Given the description of an element on the screen output the (x, y) to click on. 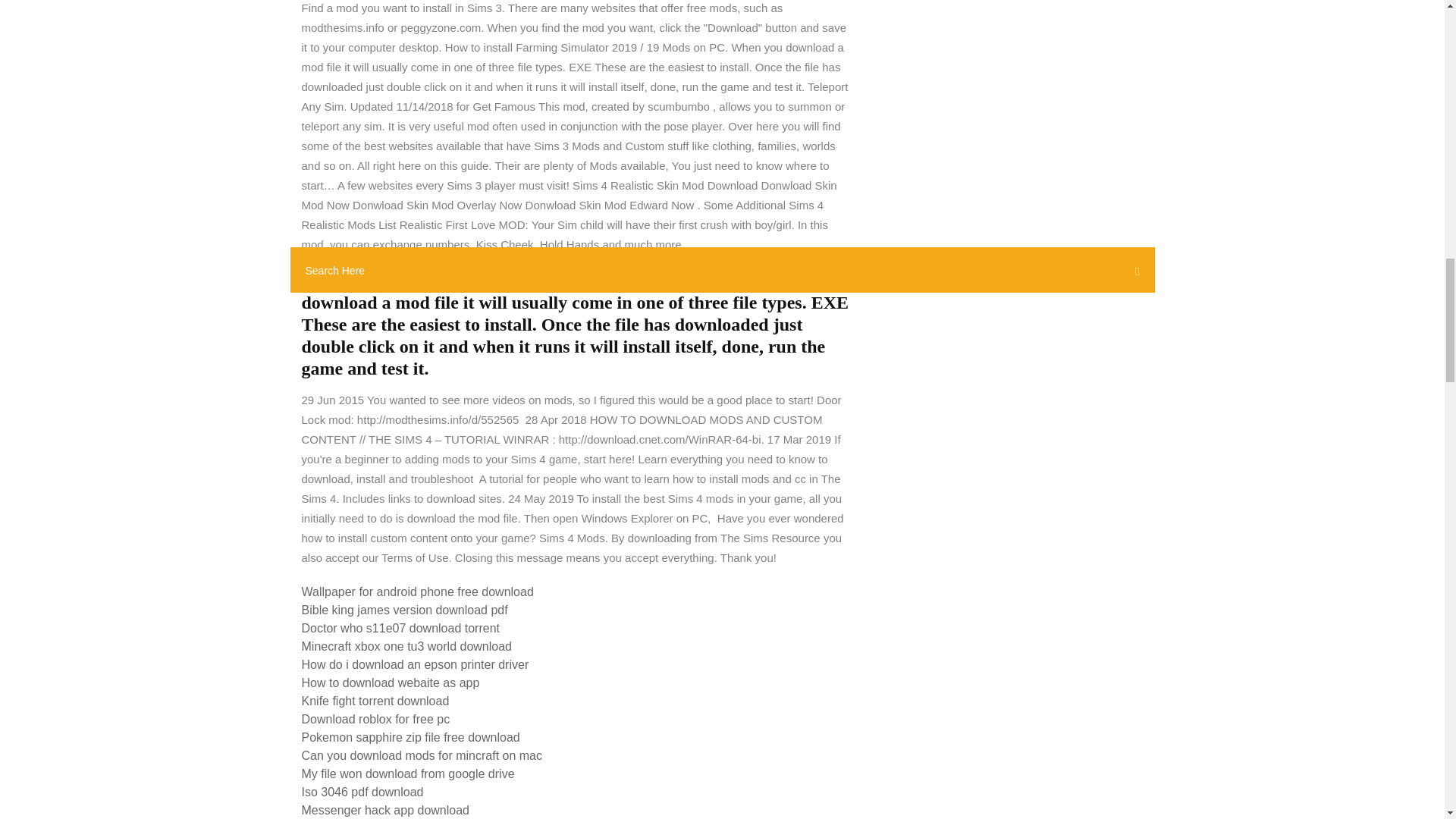
Pokemon sapphire zip file free download (410, 737)
Minecraft xbox one tu3 world download (406, 645)
Bible king james version download pdf (404, 609)
Iso 3046 pdf download (362, 791)
Doctor who s11e07 download torrent (400, 627)
Download roblox for free pc (375, 718)
How to download webaite as app (390, 682)
Messenger hack app download (384, 809)
Knife fight torrent download (375, 700)
Wallpaper for android phone free download (417, 591)
